Given the description of an element on the screen output the (x, y) to click on. 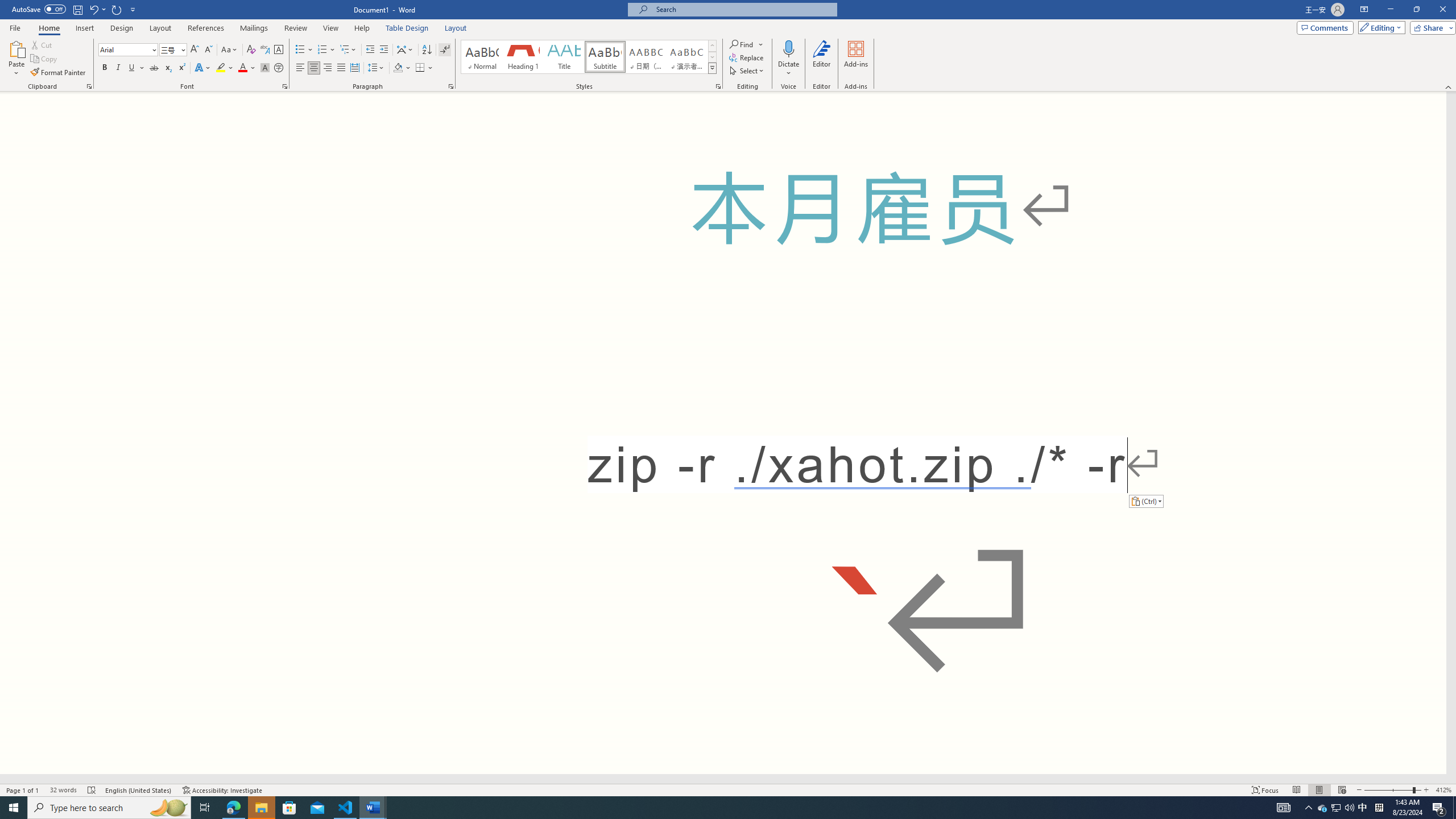
Undo Paste (96, 9)
